Given the description of an element on the screen output the (x, y) to click on. 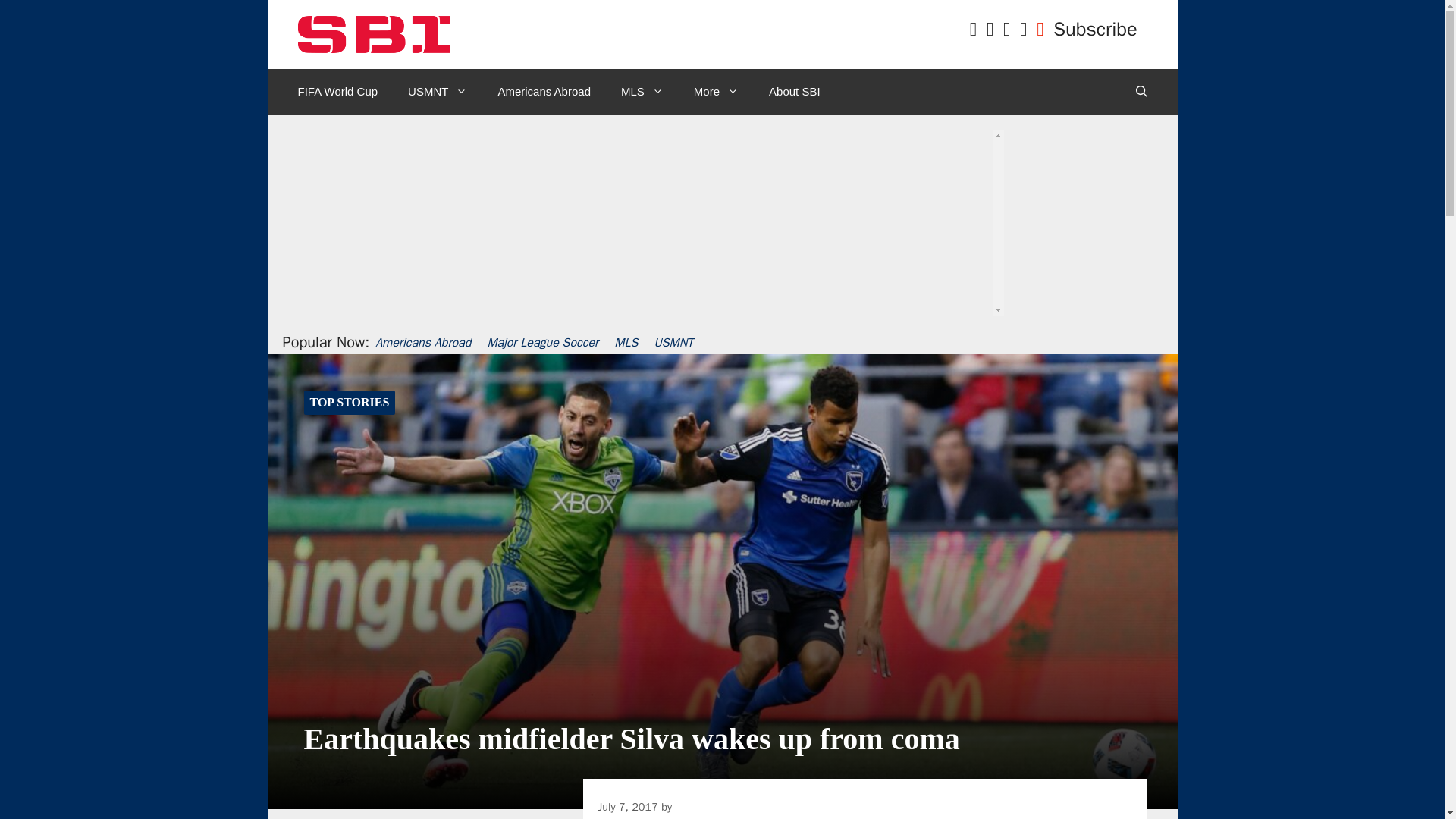
USMNT (437, 91)
Advertisement (716, 256)
MLS (641, 91)
FIFA World Cup (337, 91)
Subscribe (1094, 28)
Americans Abroad (543, 91)
